Given the description of an element on the screen output the (x, y) to click on. 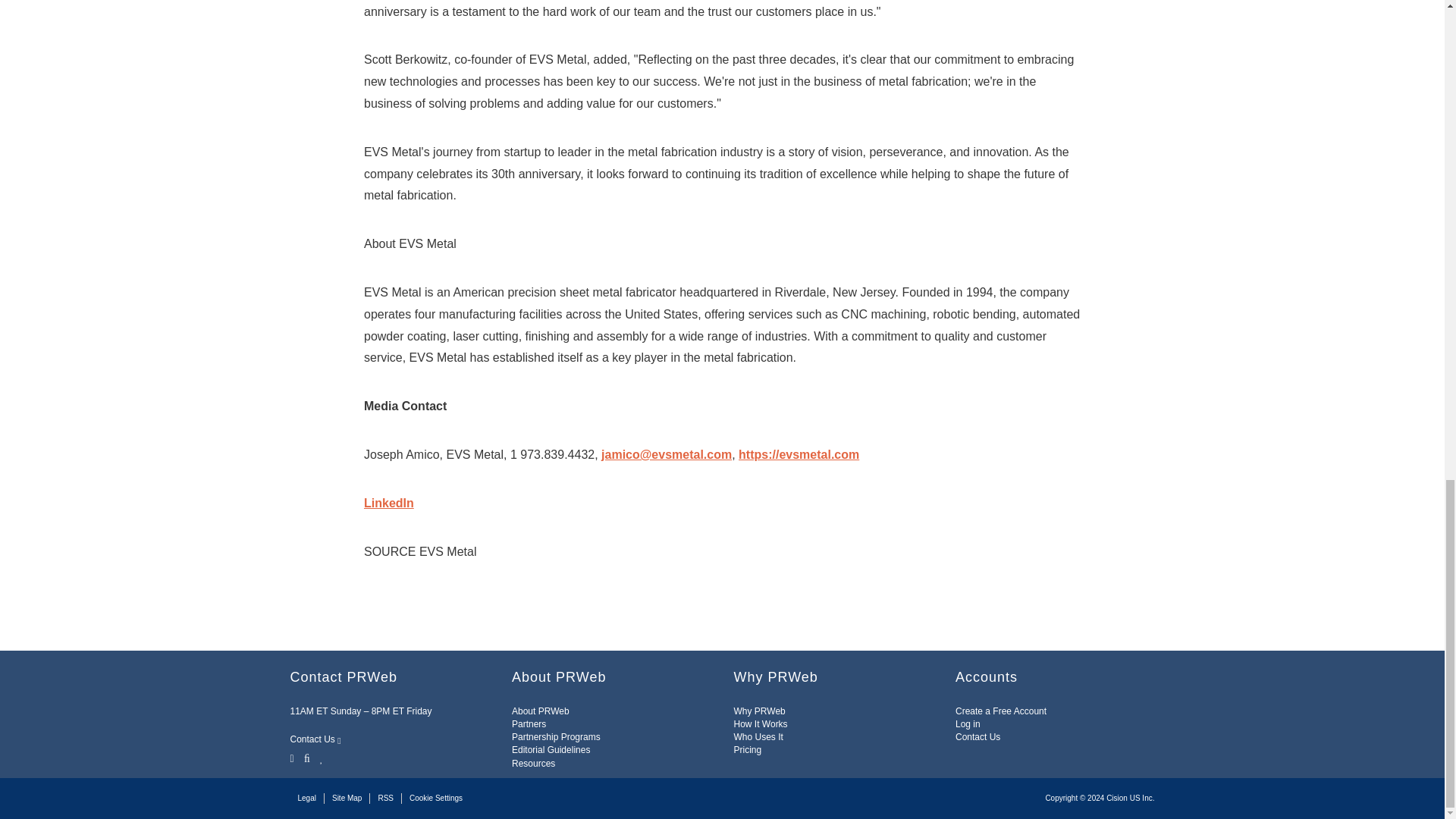
Why PRWeb (759, 710)
Partners (529, 724)
About PRWeb (540, 710)
Editorial Guidelines (550, 749)
Resources (533, 763)
Who Uses It (758, 737)
How It Works (760, 724)
Facebook (306, 757)
Partnership Programs (555, 737)
